Given the description of an element on the screen output the (x, y) to click on. 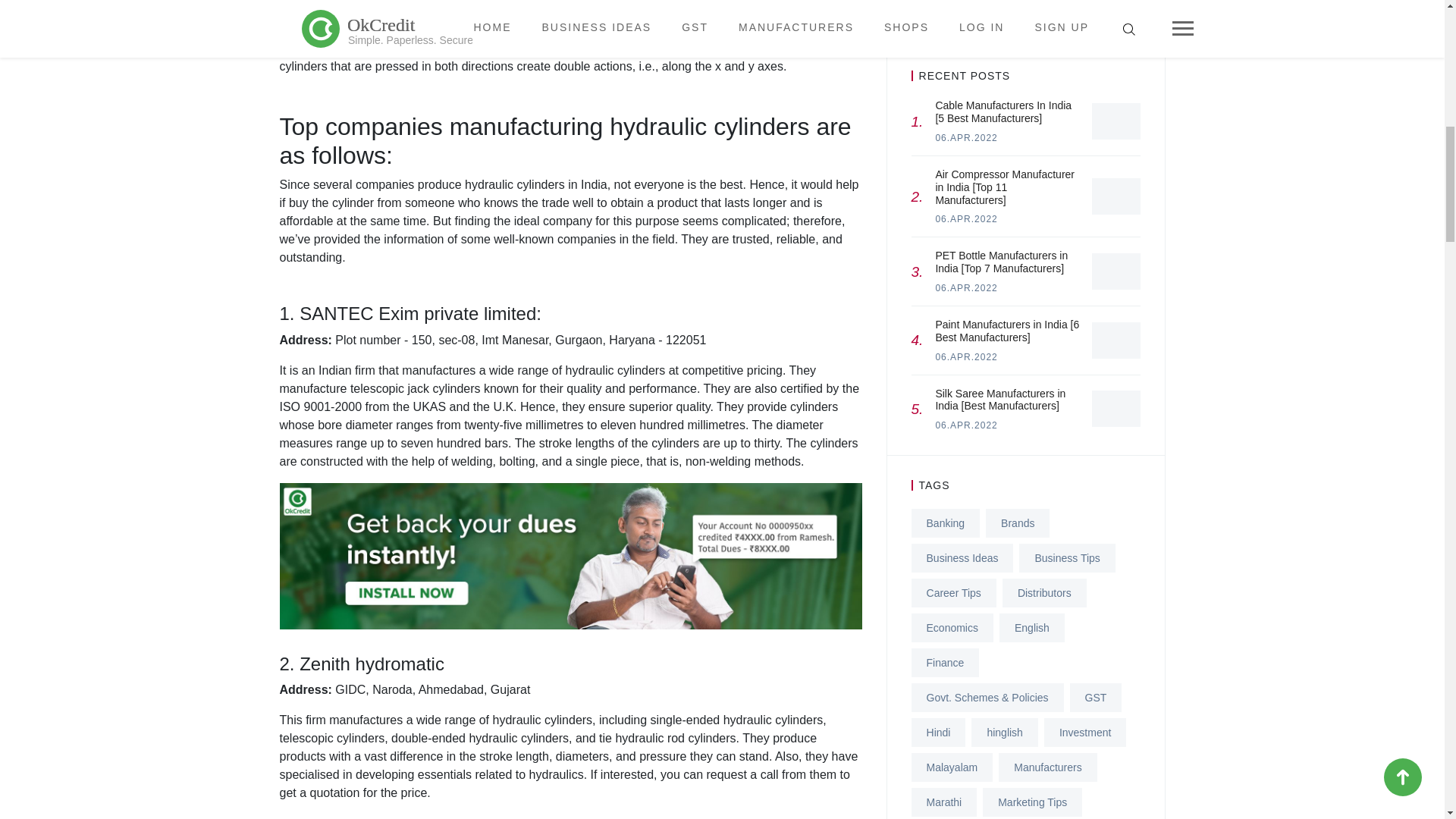
06 April 2022 (965, 287)
06 April 2022 (965, 357)
06 April 2022 (965, 137)
06 April 2022 (965, 425)
06 April 2022 (965, 218)
